Given the description of an element on the screen output the (x, y) to click on. 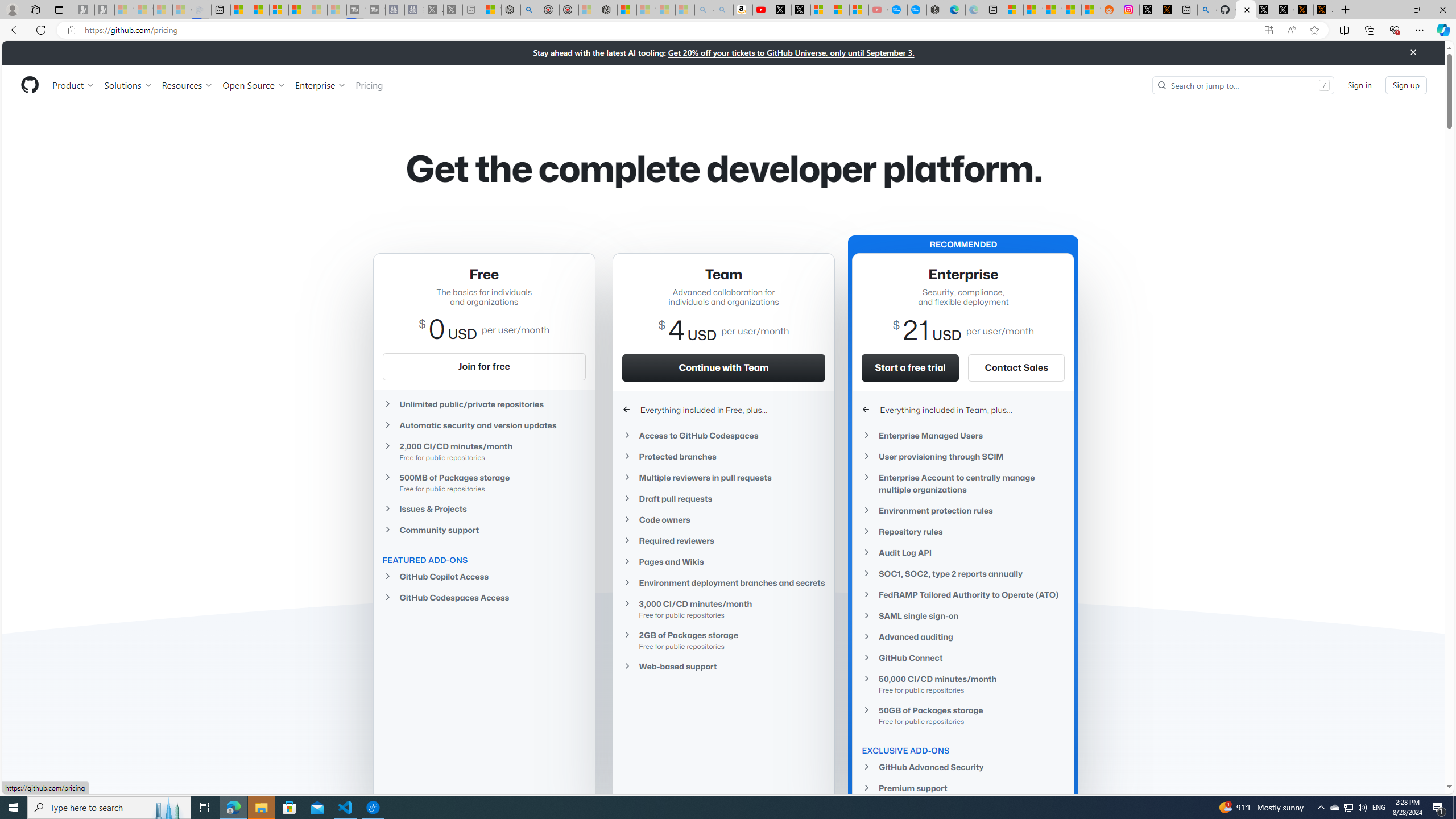
Protected branches (723, 456)
GitHub Advanced Security (963, 766)
Code owners (723, 519)
Shanghai, China hourly forecast | Microsoft Weather (1052, 9)
Sign in (1359, 84)
Automatic security and version updates (483, 425)
Day 1: Arriving in Yemen (surreal to be here) - YouTube (762, 9)
Product (74, 84)
Pages and Wikis (723, 561)
User provisioning through SCIM (963, 456)
